Given the description of an element on the screen output the (x, y) to click on. 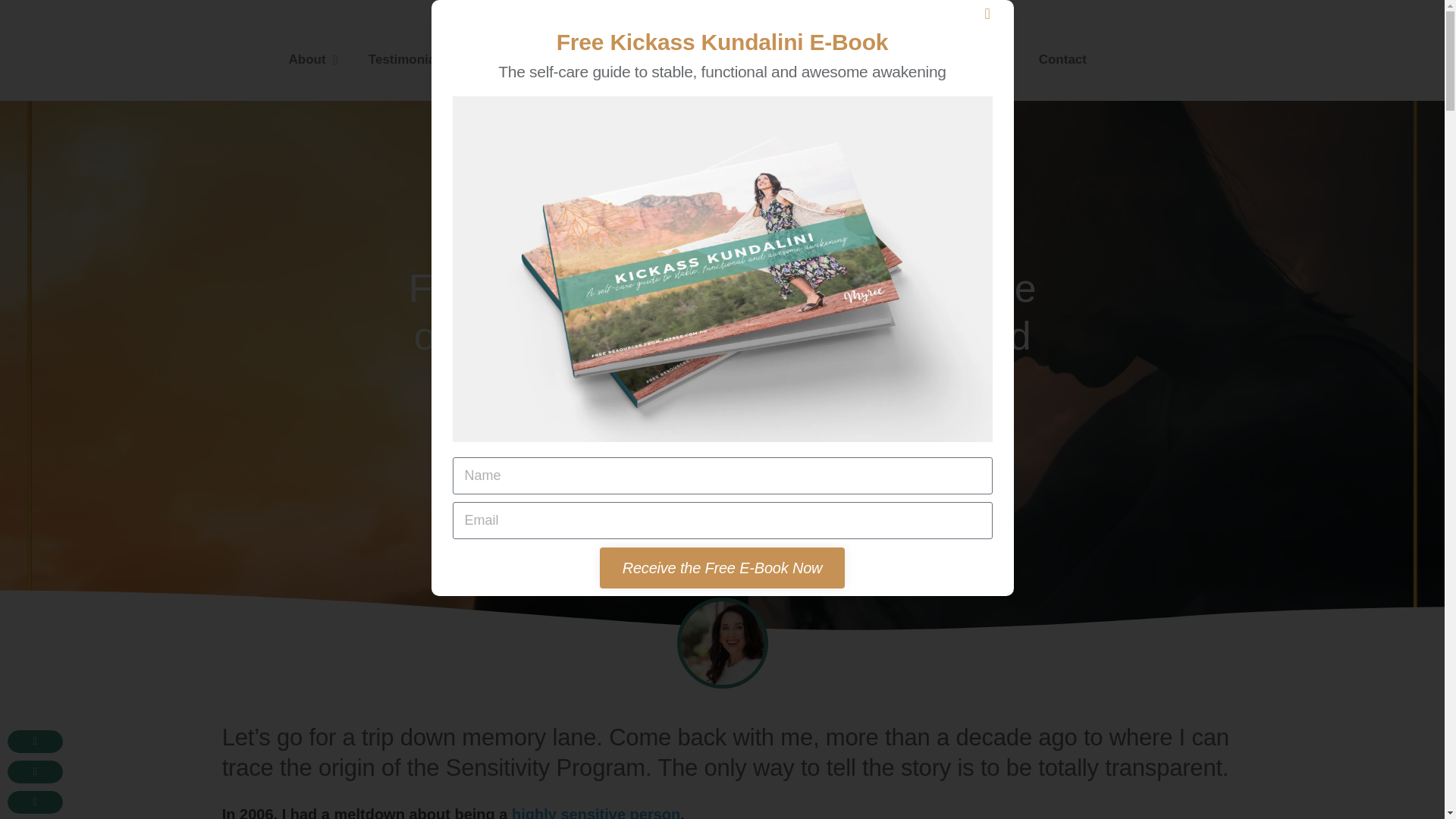
Testimonials (407, 59)
Courses (603, 59)
About (312, 59)
Coaching (511, 59)
